Given the description of an element on the screen output the (x, y) to click on. 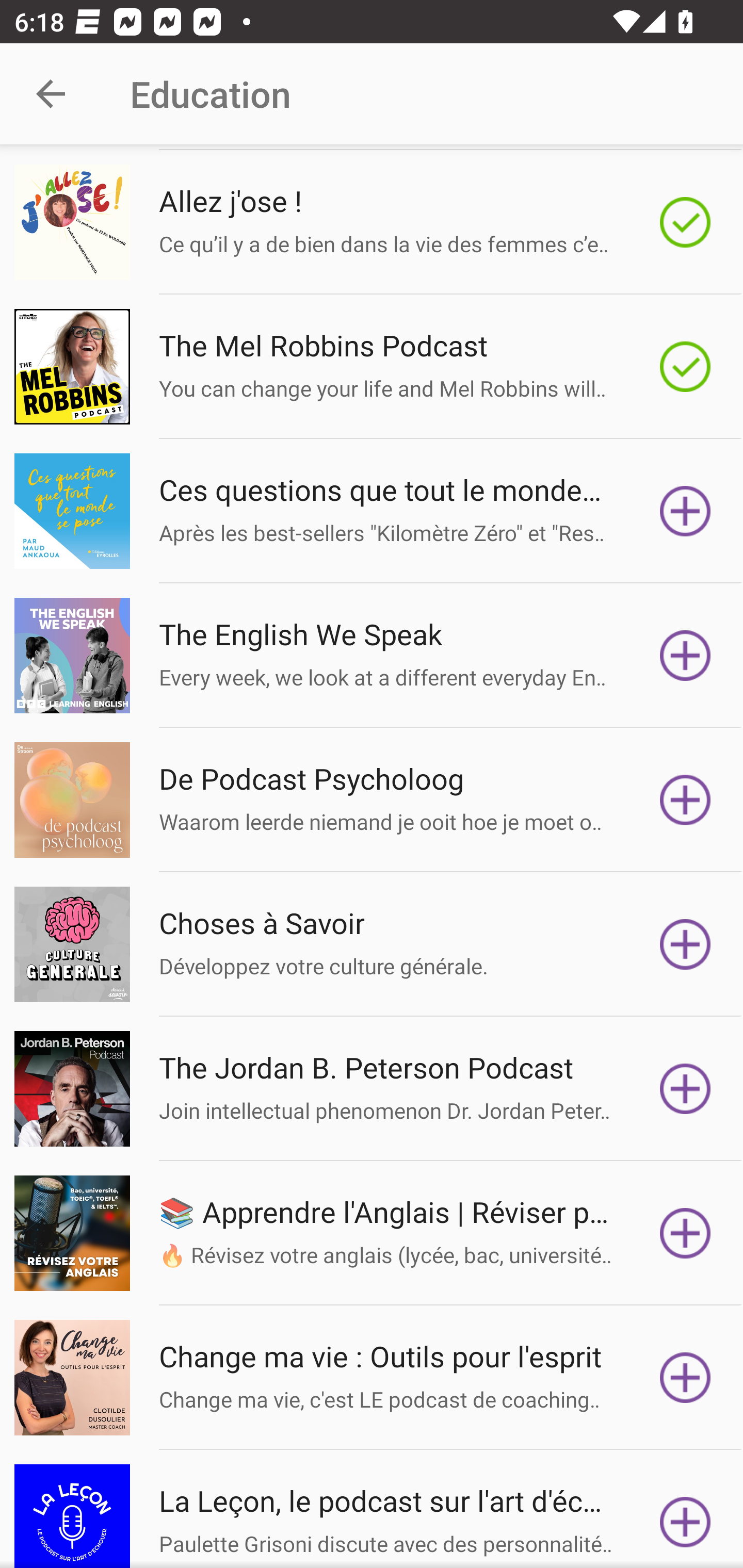
Navigate up (50, 93)
Subscribed (685, 222)
Subscribed (685, 366)
Subscribe (685, 511)
Subscribe (685, 655)
Subscribe (685, 799)
Subscribe (685, 943)
Subscribe (685, 1088)
Subscribe (685, 1233)
Subscribe (685, 1377)
Subscribe (685, 1516)
